Given the description of an element on the screen output the (x, y) to click on. 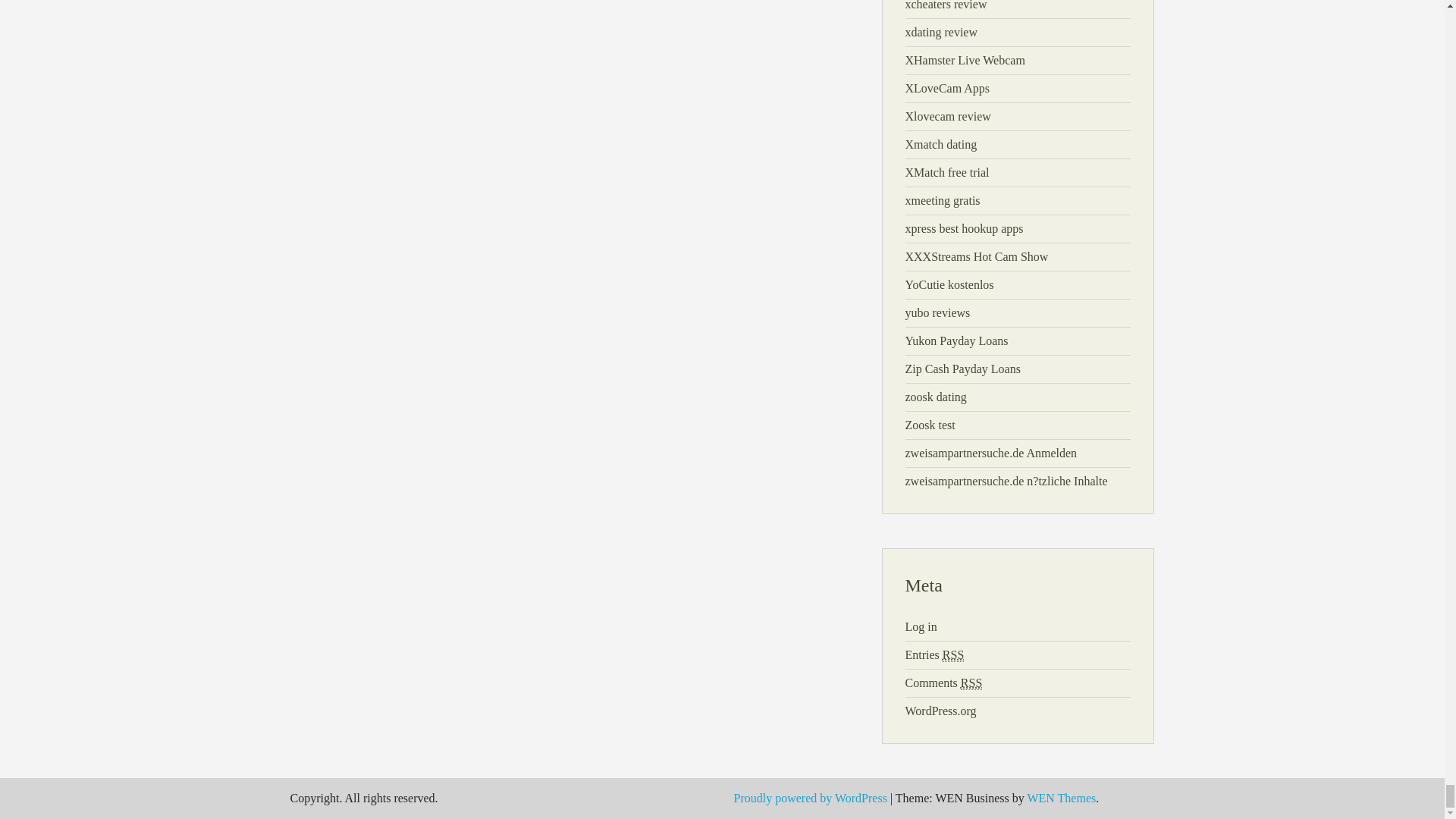
Really Simple Syndication (952, 654)
Really Simple Syndication (970, 683)
